Given the description of an element on the screen output the (x, y) to click on. 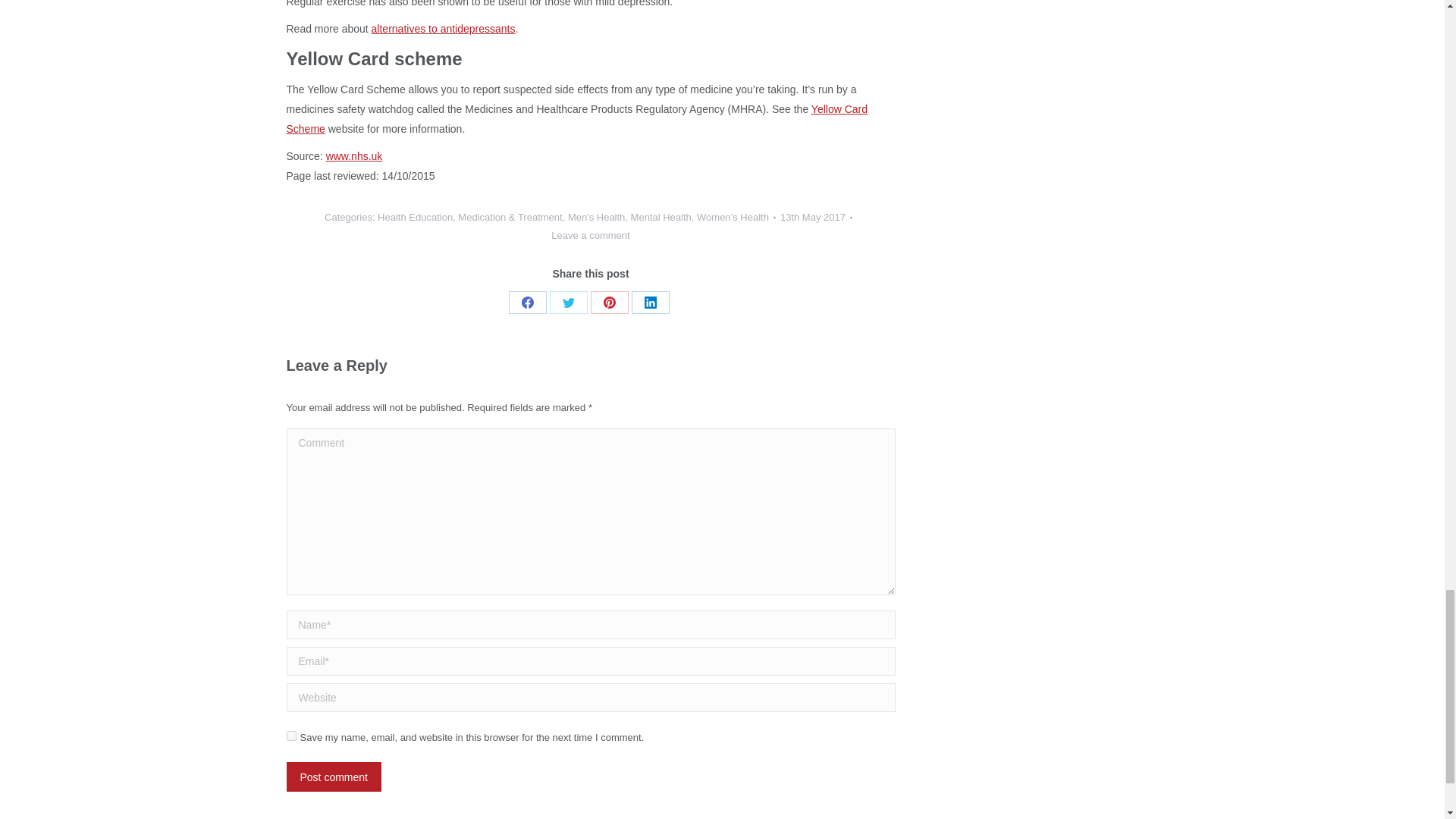
Facebook (527, 302)
LinkedIn (650, 302)
Twitter (569, 302)
yes (291, 736)
Pinterest (609, 302)
8:27 am (815, 217)
